Given the description of an element on the screen output the (x, y) to click on. 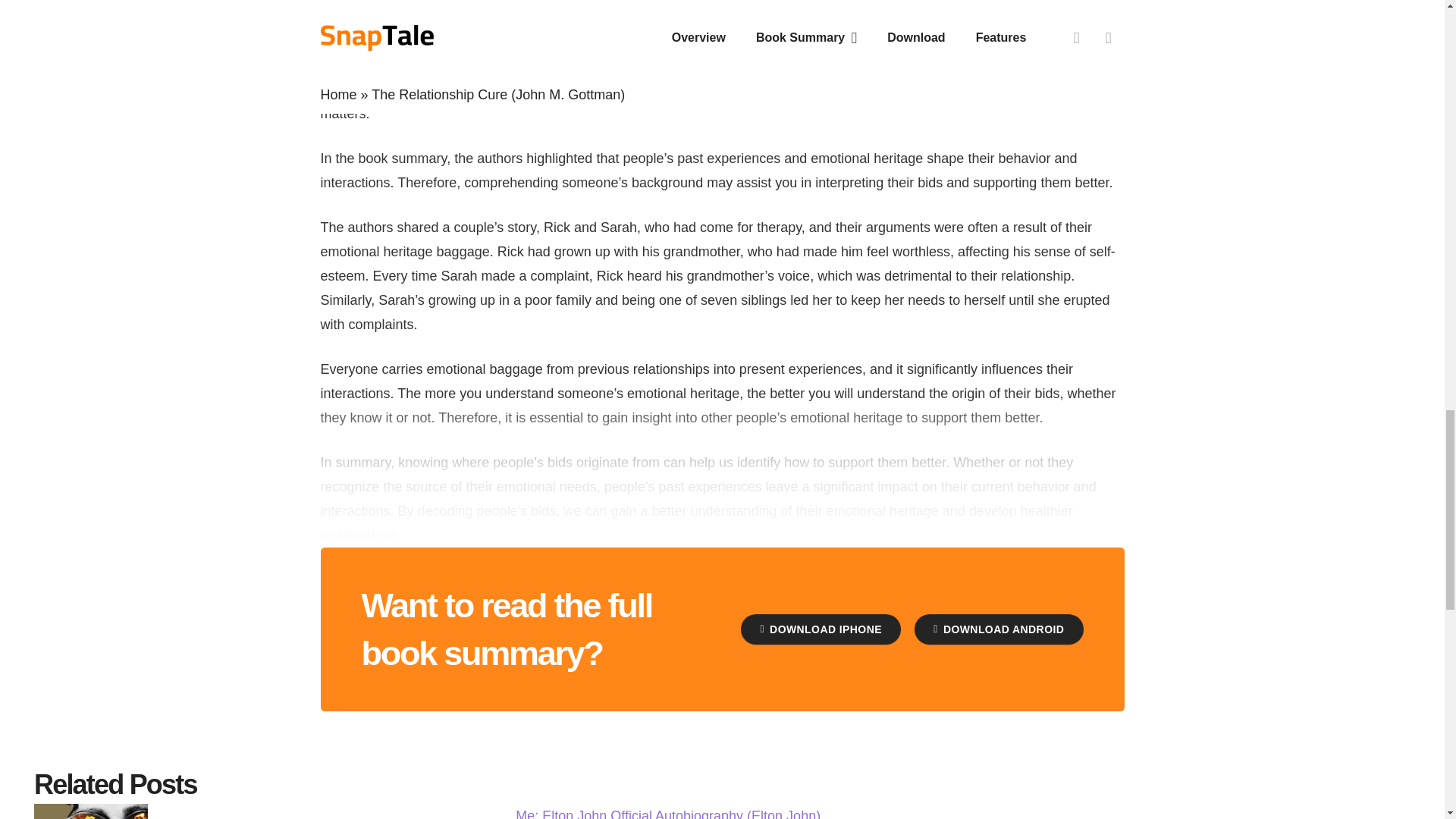
DOWNLOAD IPHONE (821, 628)
